Given the description of an element on the screen output the (x, y) to click on. 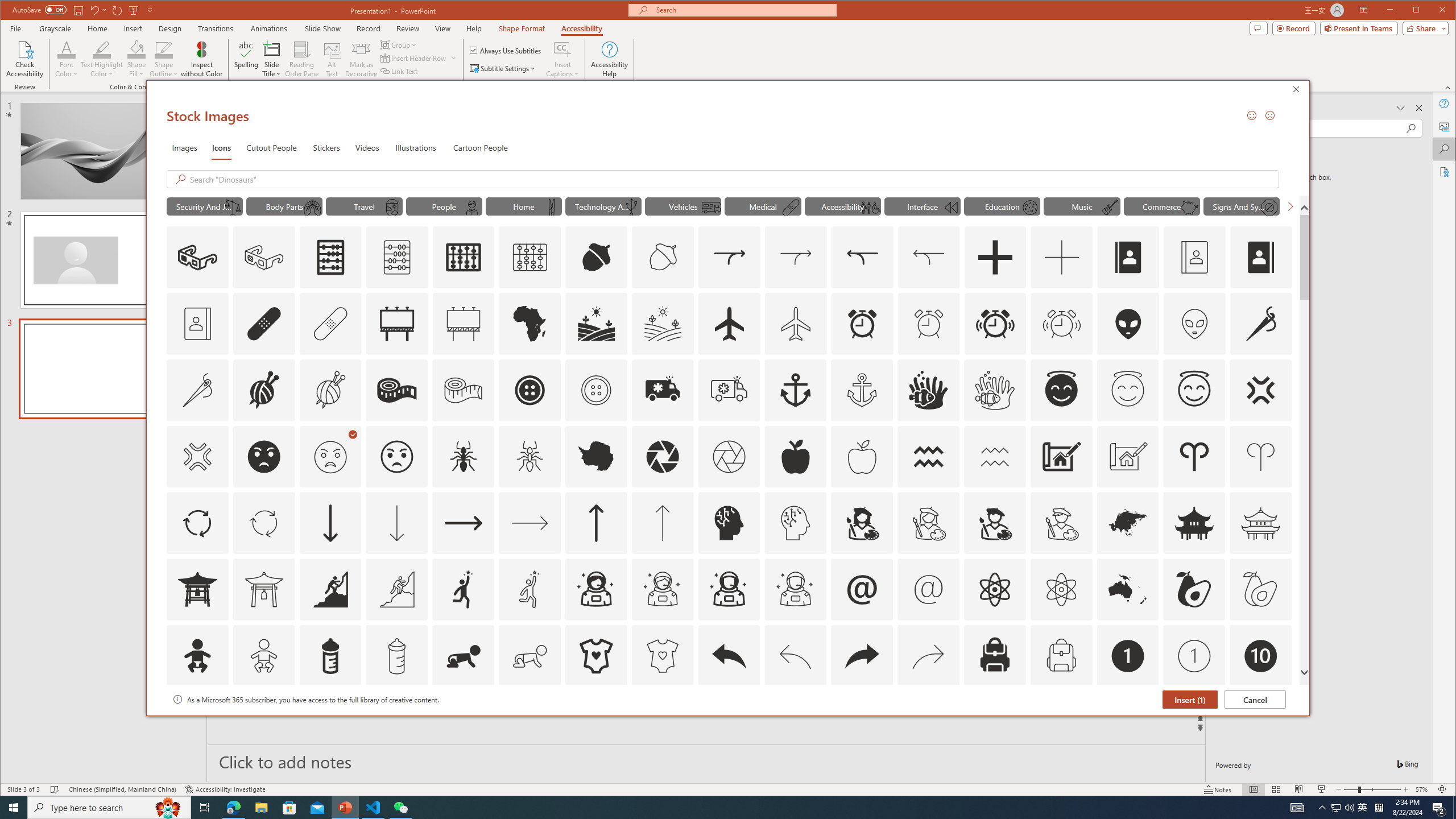
AutomationID: Icons_AsianTemple (1193, 522)
AutomationID: _134_Angel_Face_A (1061, 389)
AutomationID: Icons_SchoolBoy_M (471, 207)
AutomationID: Icons_Badge2 (263, 721)
AutomationID: Icons_Airplane_M (795, 323)
AutomationID: Icons_Australia (1128, 589)
